Given the description of an element on the screen output the (x, y) to click on. 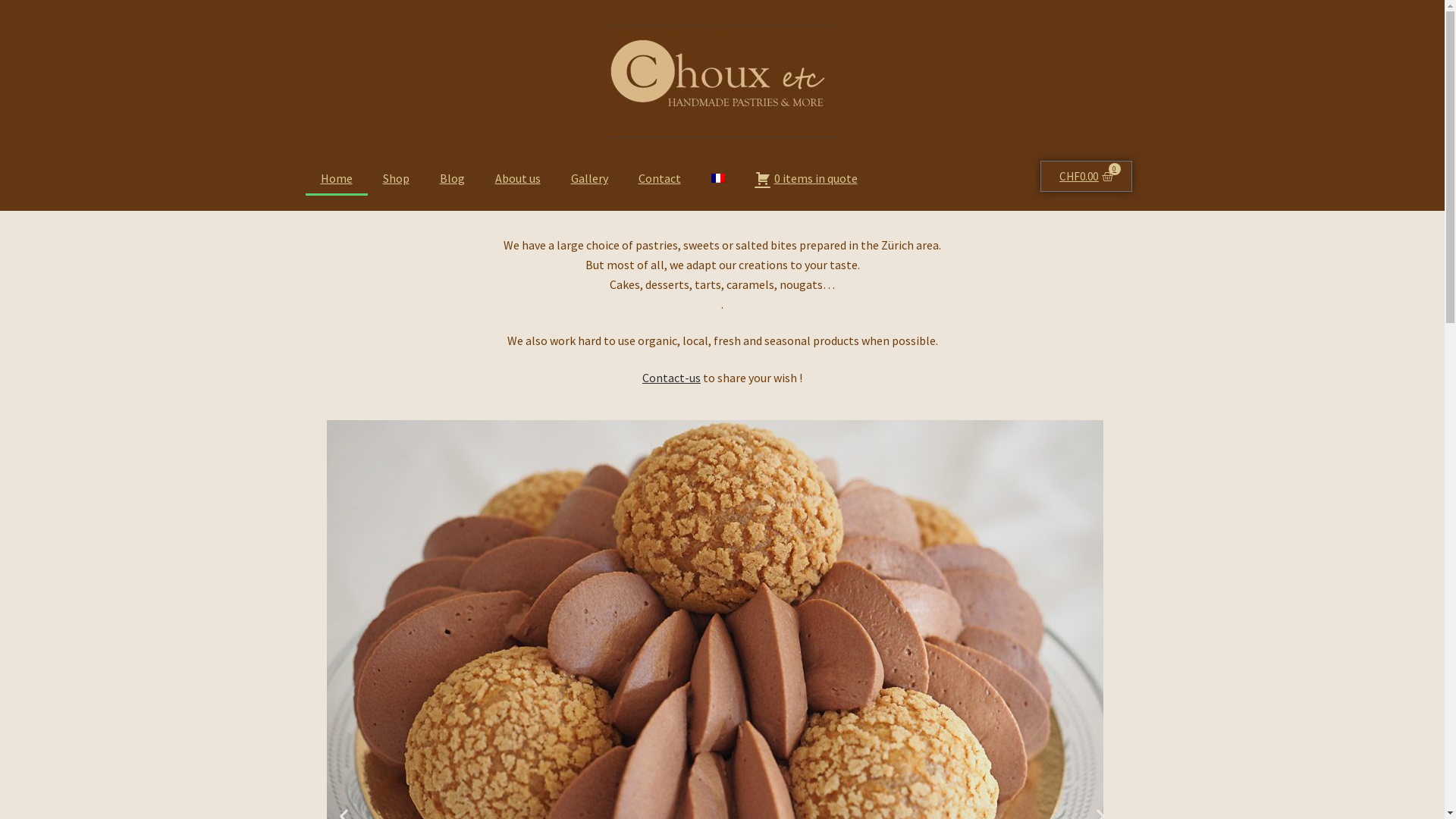
Shop Element type: text (395, 177)
Gallery Element type: text (588, 177)
Home Element type: text (335, 177)
About us Element type: text (517, 177)
Contact Element type: text (659, 177)
Contact-us Element type: text (671, 377)
Blog Element type: text (452, 177)
0 items in quote Element type: text (806, 177)
CHF0.00
0 Element type: text (1086, 175)
